Given the description of an element on the screen output the (x, y) to click on. 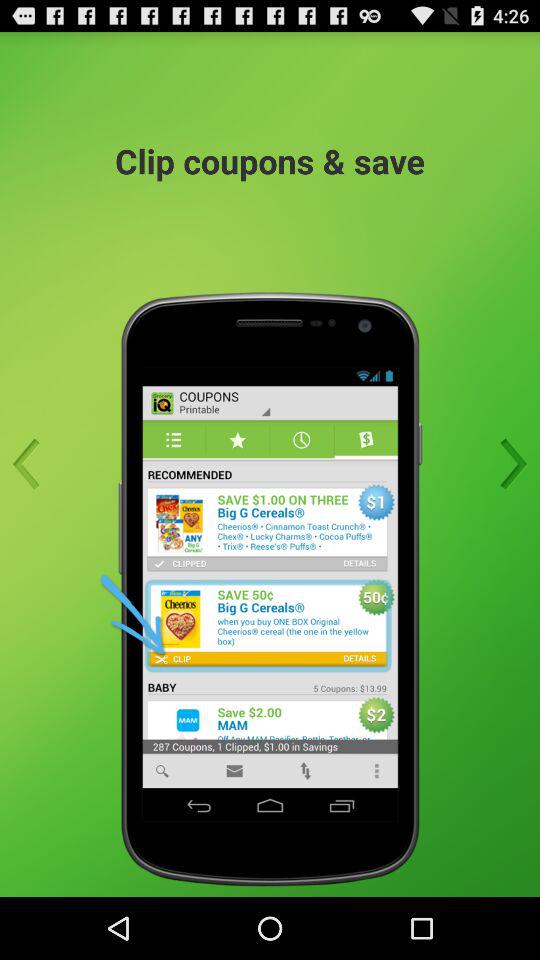
go next (507, 464)
